Given the description of an element on the screen output the (x, y) to click on. 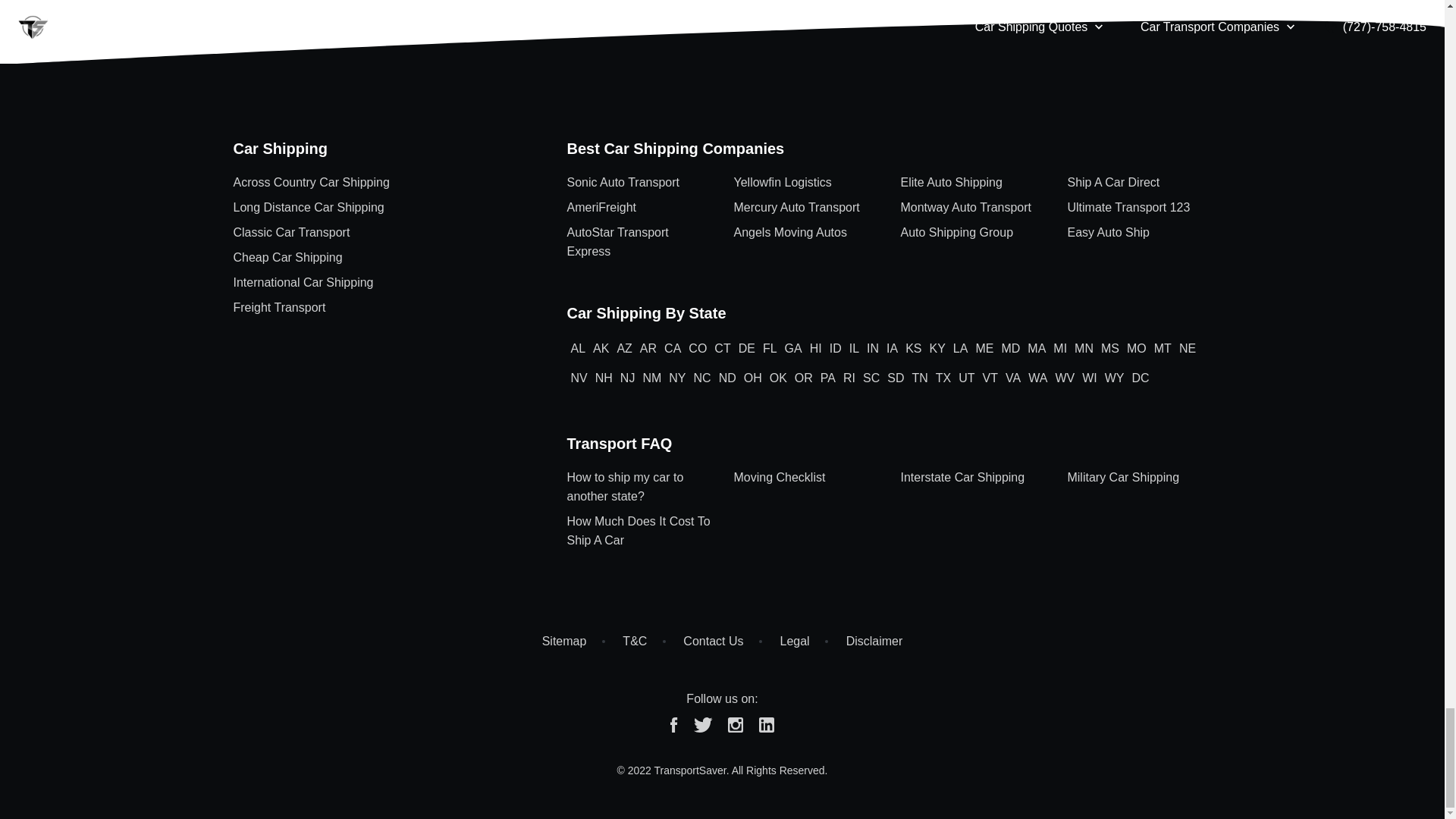
Yellowfin Logistics (805, 185)
Freight Transport (388, 310)
Across Country Car Shipping (388, 185)
AmeriFreight (638, 210)
International Car Shipping (388, 285)
Ship A Car Direct (1139, 185)
Mercury Auto Transport (805, 210)
Montway Auto Transport (971, 210)
Sonic Auto Transport (638, 185)
Best Car Shipping Companies (675, 148)
Cheap Car Shipping (388, 260)
Elite Auto Shipping (971, 185)
Long Distance Car Shipping (388, 210)
Ultimate Transport 123 (1139, 210)
Classic Car Transport (388, 235)
